Given the description of an element on the screen output the (x, y) to click on. 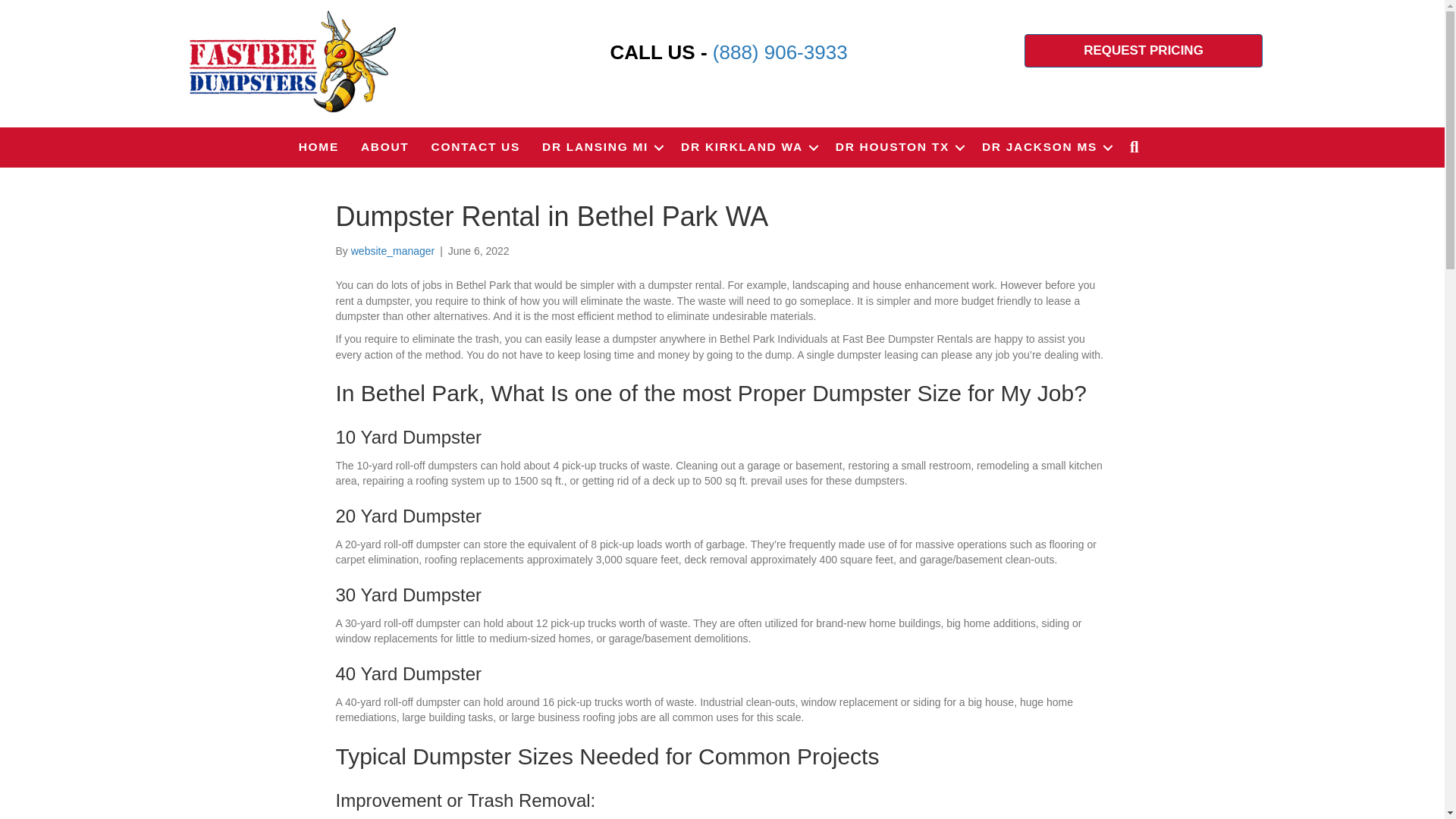
DR LANSING MI (600, 146)
HOME (318, 146)
REQUEST PRICING (1144, 50)
fastbeedumpsters-logo (291, 61)
ABOUT (385, 146)
CONTACT US (475, 146)
